Given the description of an element on the screen output the (x, y) to click on. 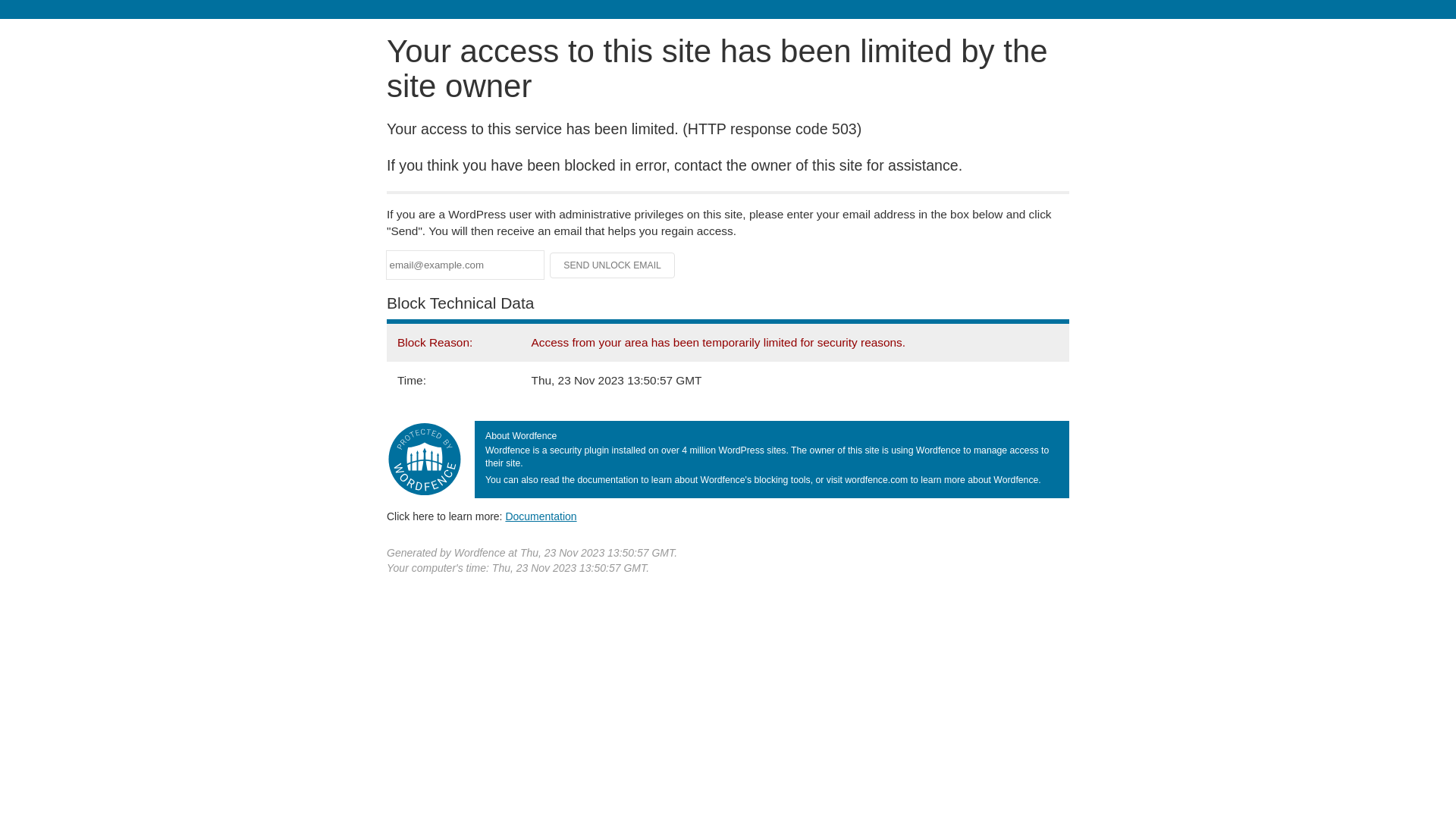
Documentation Element type: text (540, 516)
Send Unlock Email Element type: text (612, 265)
